Given the description of an element on the screen output the (x, y) to click on. 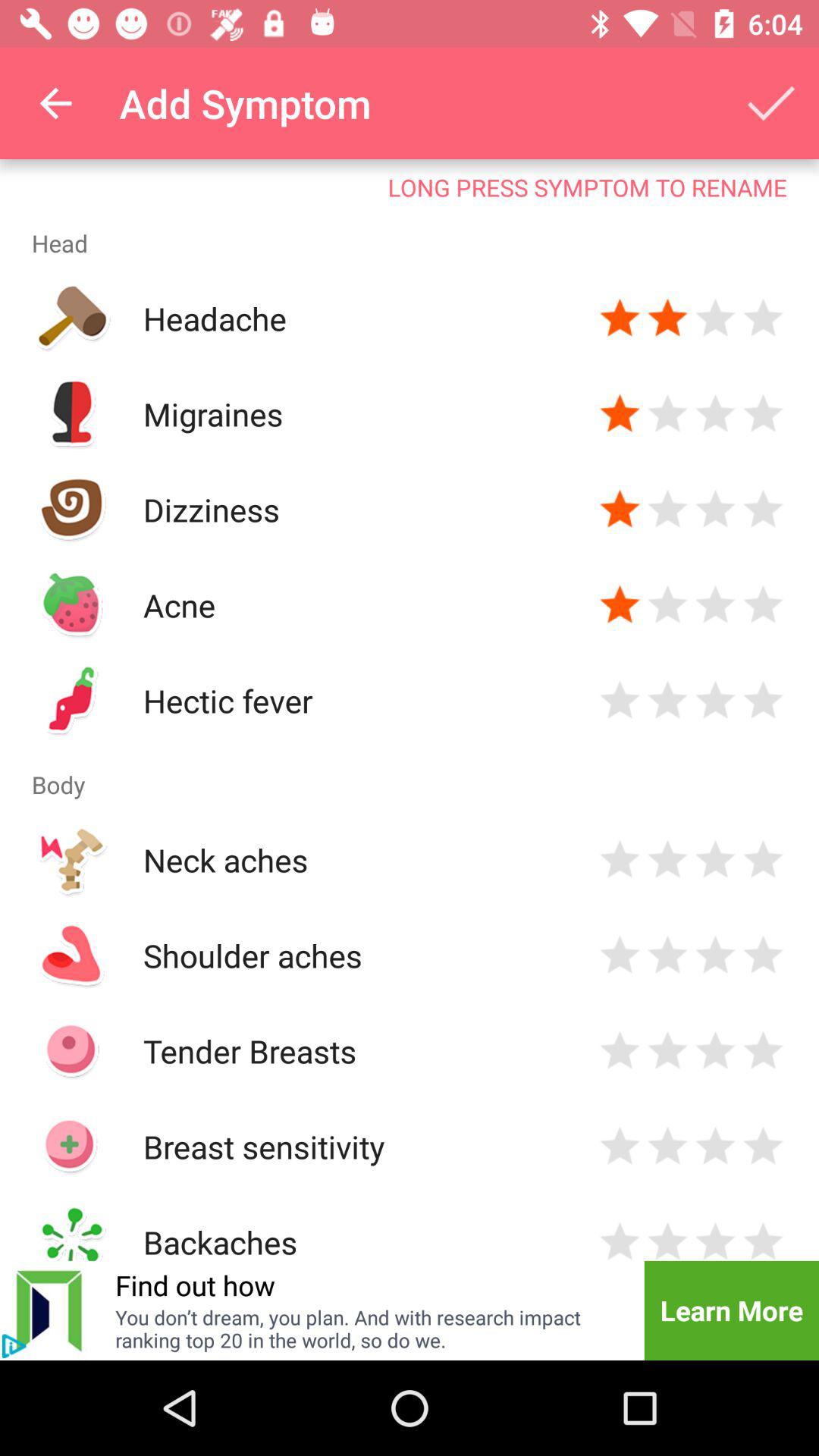
2 stars hectic fever (667, 700)
